Given the description of an element on the screen output the (x, y) to click on. 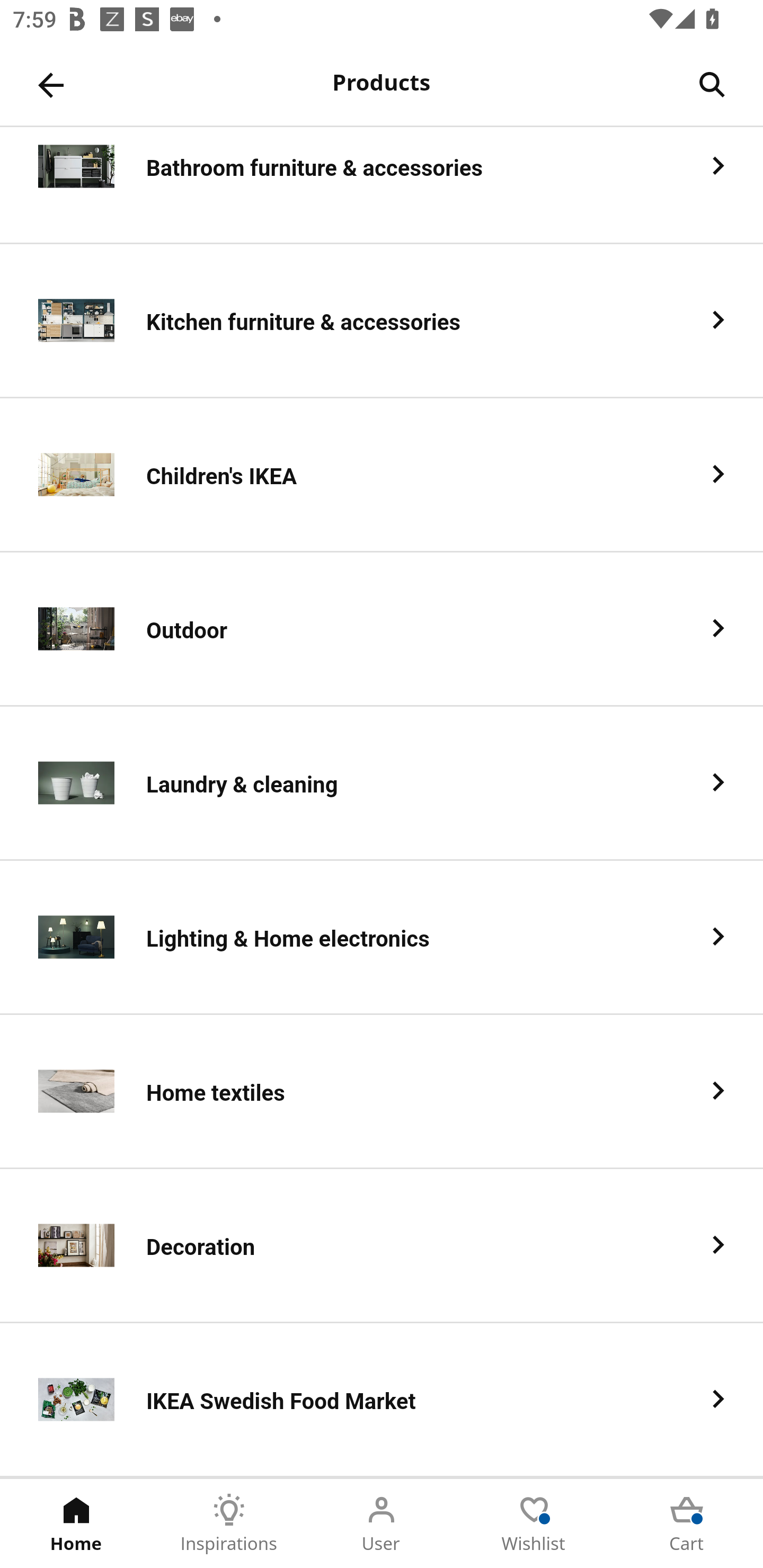
Bathroom furniture & accessories (381, 185)
Kitchen furniture & accessories (381, 321)
Children's IKEA (381, 474)
Outdoor (381, 629)
Laundry & cleaning (381, 783)
Lighting & Home electronics (381, 937)
Home textiles (381, 1091)
Decoration (381, 1246)
IKEA Swedish Food Market (381, 1400)
Home
Tab 1 of 5 (76, 1522)
Inspirations
Tab 2 of 5 (228, 1522)
User
Tab 3 of 5 (381, 1522)
Wishlist
Tab 4 of 5 (533, 1522)
Cart
Tab 5 of 5 (686, 1522)
